Given the description of an element on the screen output the (x, y) to click on. 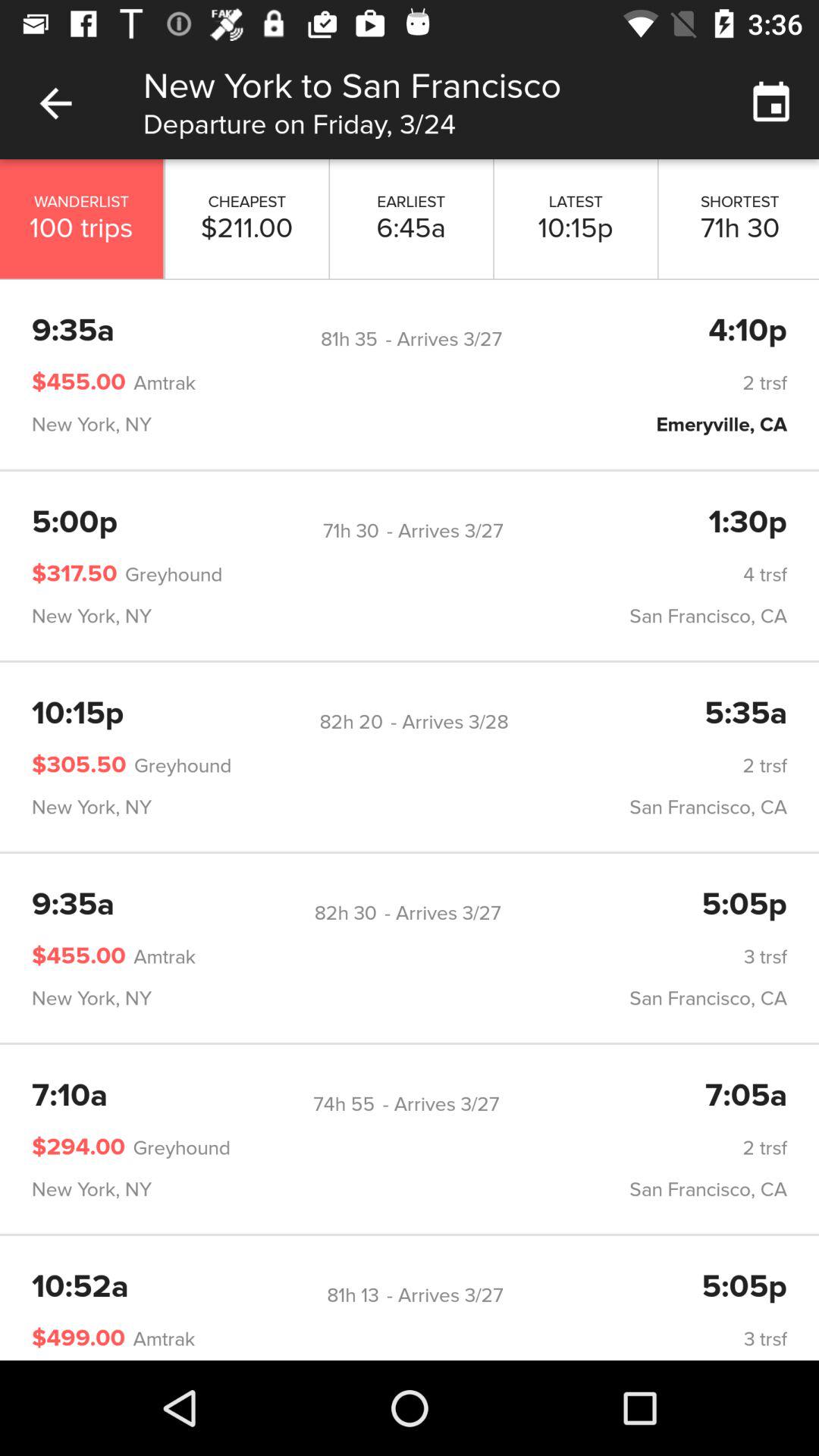
press the item to the left of the - arrives 3/27 (345, 913)
